Given the description of an element on the screen output the (x, y) to click on. 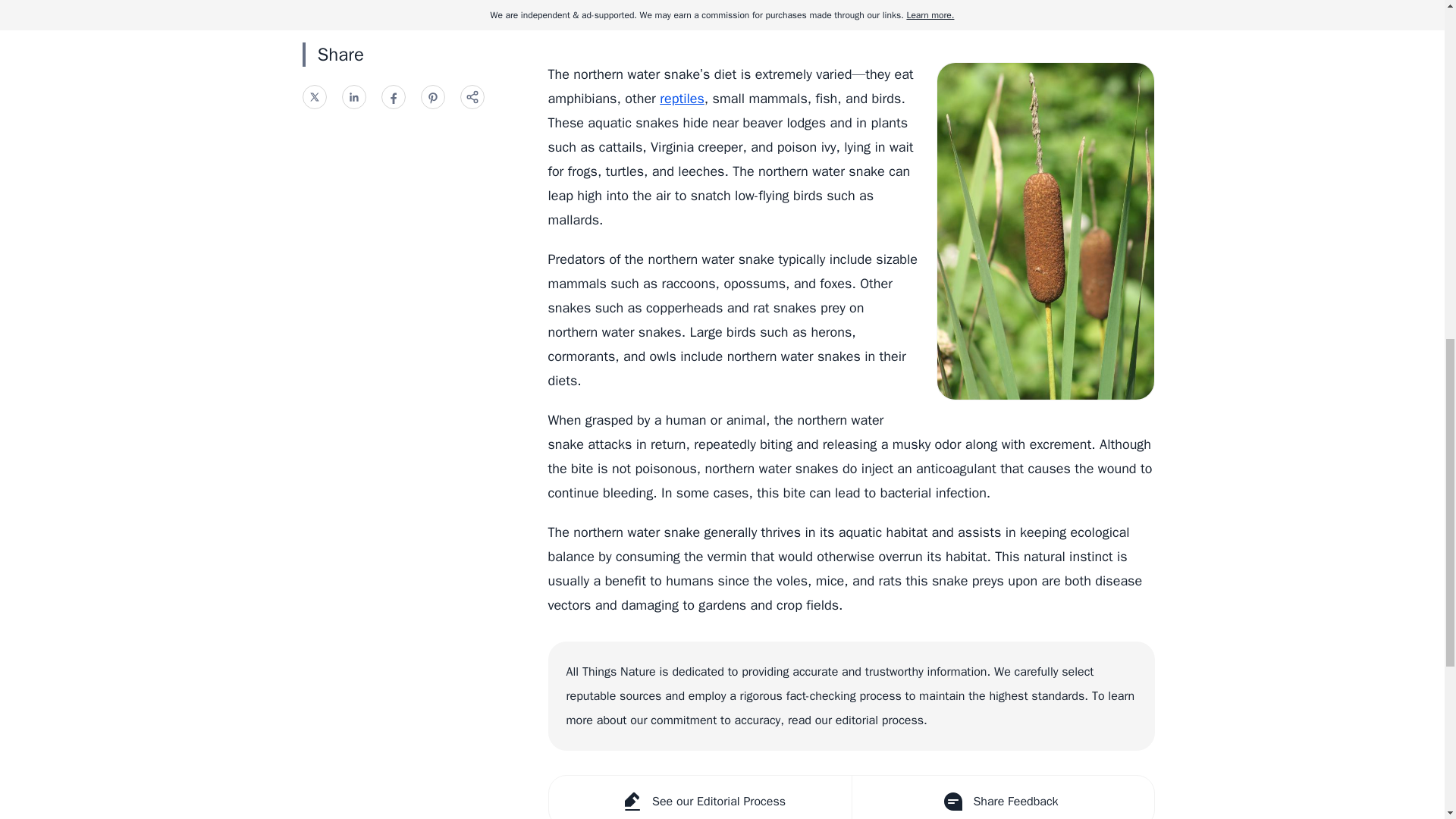
See our Editorial Process (699, 797)
Share Feedback (1001, 797)
reptiles (681, 98)
